Given the description of an element on the screen output the (x, y) to click on. 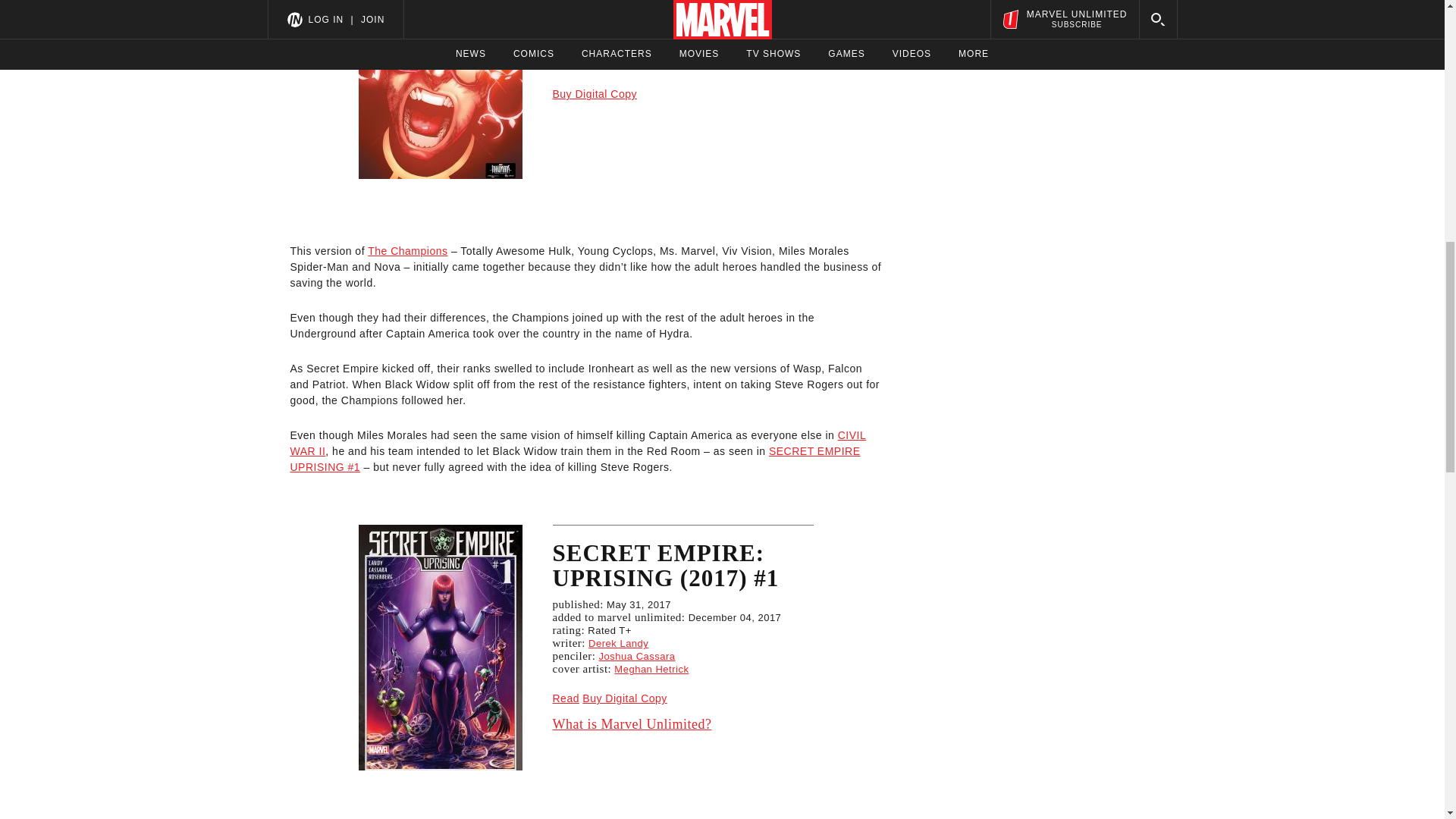
Derek Landy (617, 643)
Buy Digital Copy (624, 698)
Buy Digital Copy (594, 93)
Read (564, 698)
Meghan Hetrick (651, 668)
Humberto Ramos (655, 64)
What is Marvel Unlimited? (681, 723)
Humberto Ramos (639, 51)
CIVIL WAR II (577, 443)
Joshua Cassara (636, 655)
The Champions (407, 250)
Mark Waid (613, 39)
